Given the description of an element on the screen output the (x, y) to click on. 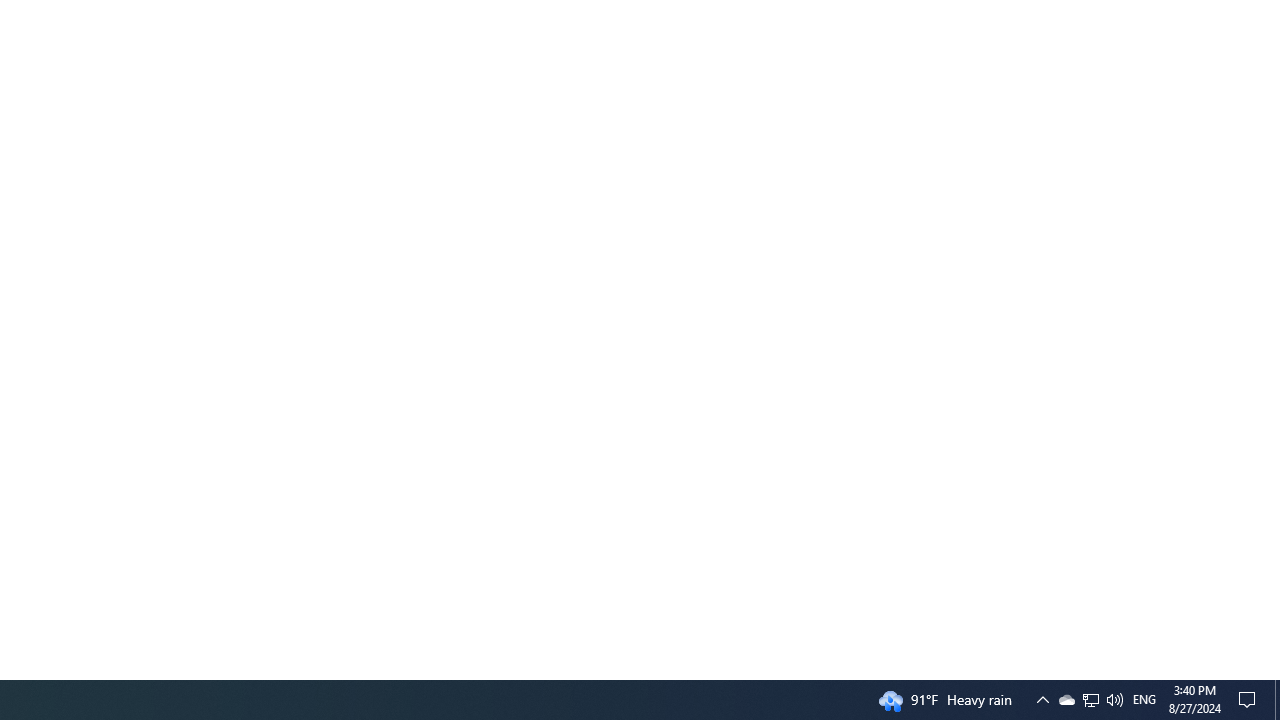
Q2790: 100% (1114, 699)
Action Center, No new notifications (1250, 699)
Notification Chevron (1066, 699)
Tray Input Indicator - English (United States) (1042, 699)
Show desktop (1144, 699)
User Promoted Notification Area (1277, 699)
